Given the description of an element on the screen output the (x, y) to click on. 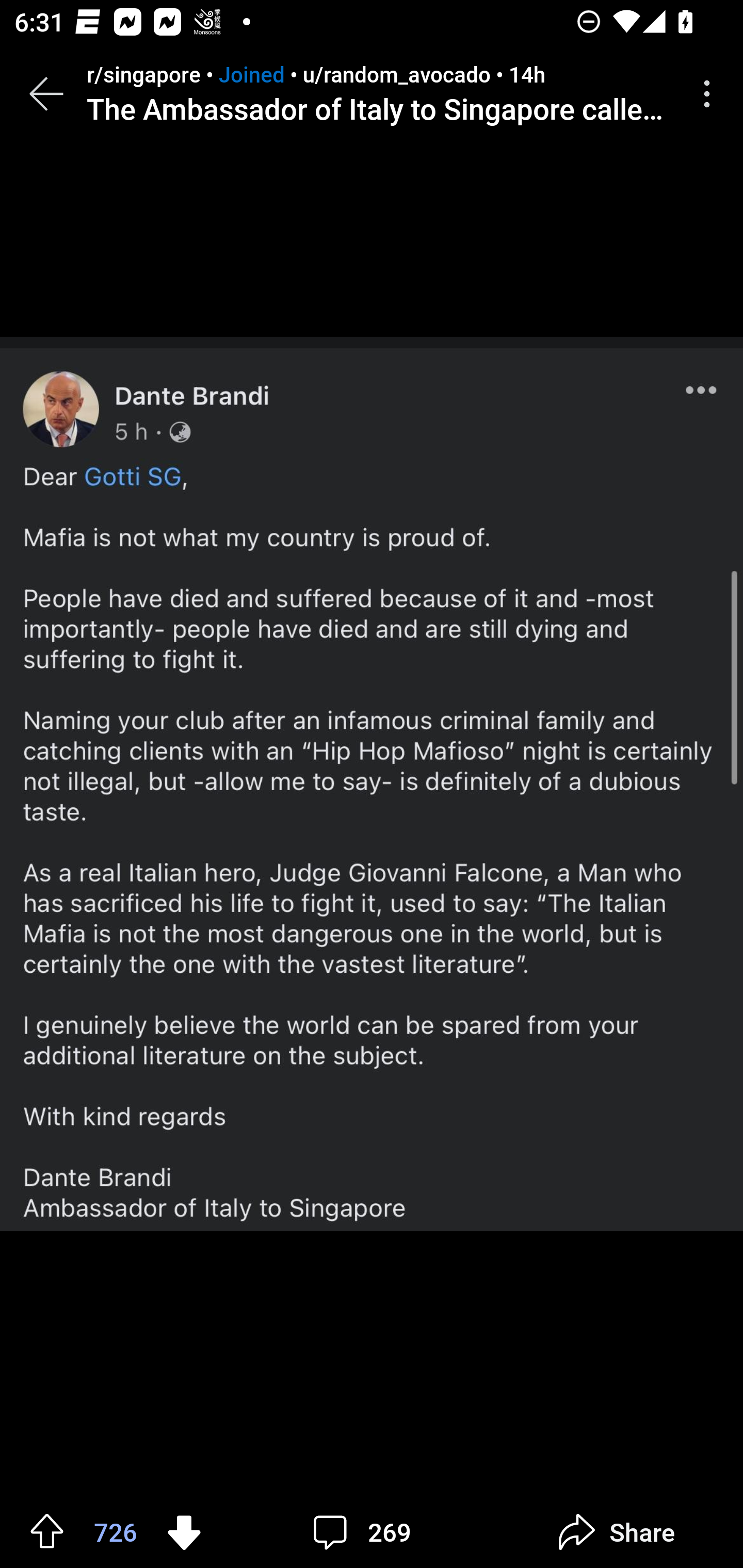
Back (46, 93)
More options (710, 93)
269 comments 269 (367, 1531)
Share (616, 1531)
Upvote (46, 1531)
Downvote (184, 1531)
